Given the description of an element on the screen output the (x, y) to click on. 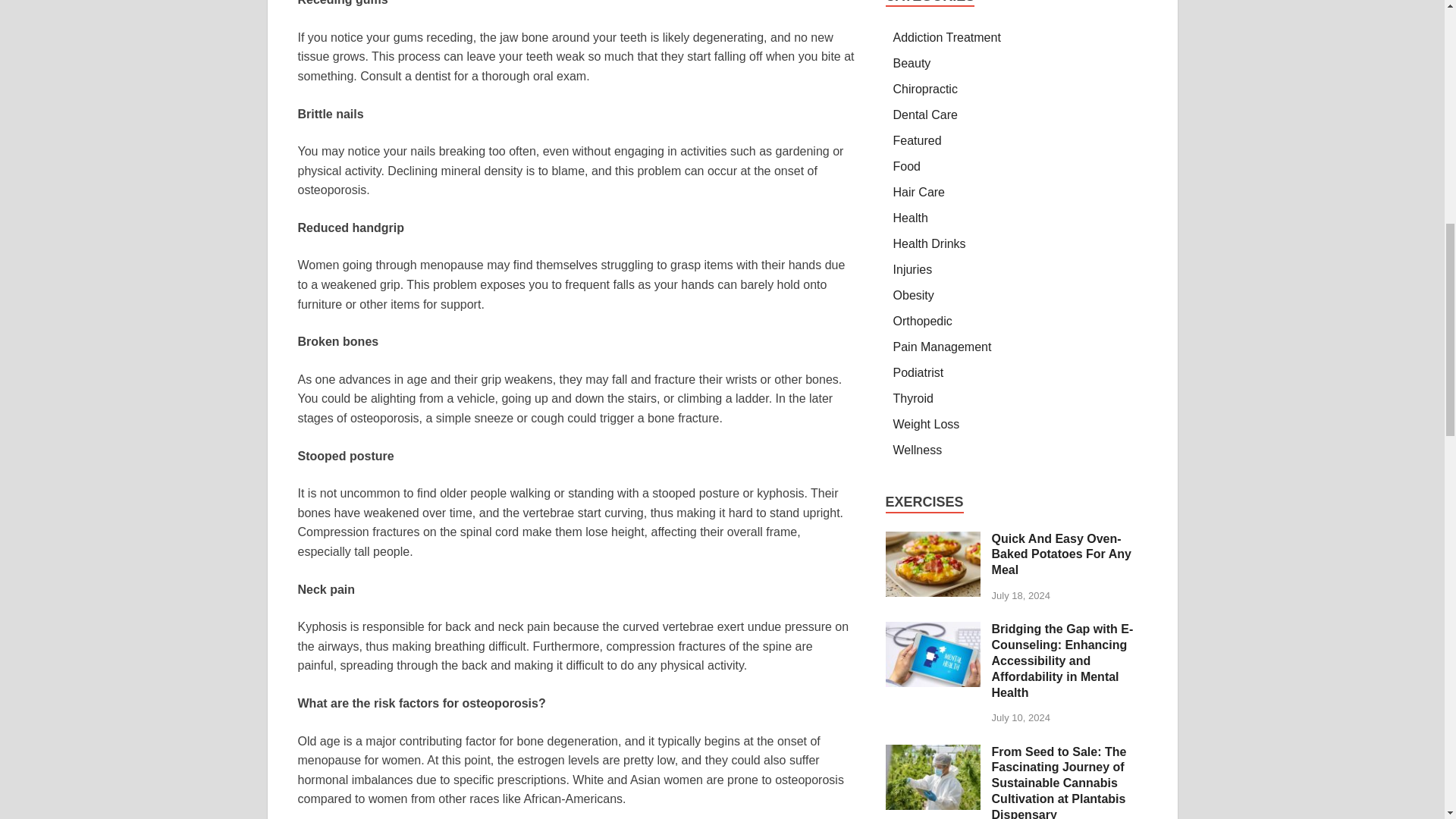
Quick And Easy Oven-Baked Potatoes For Any Meal (932, 540)
